Given the description of an element on the screen output the (x, y) to click on. 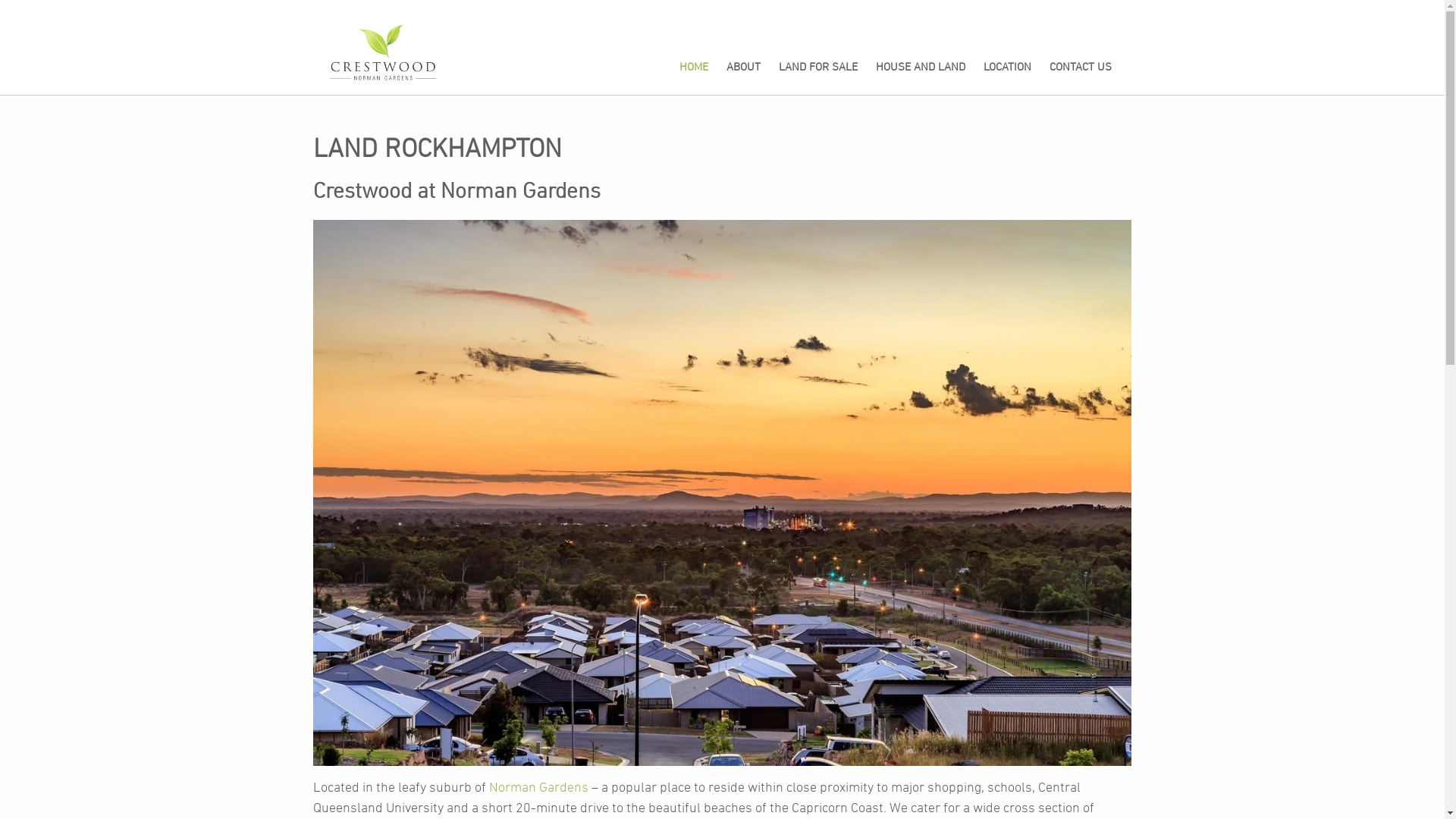
LAND FOR SALE Element type: text (818, 67)
CONTACT US Element type: text (1080, 67)
HOME Element type: text (693, 67)
ABOUT Element type: text (743, 67)
LOCATION Element type: text (1006, 67)
HOUSE AND LAND Element type: text (920, 67)
Norman Gardens Element type: text (538, 788)
